Given the description of an element on the screen output the (x, y) to click on. 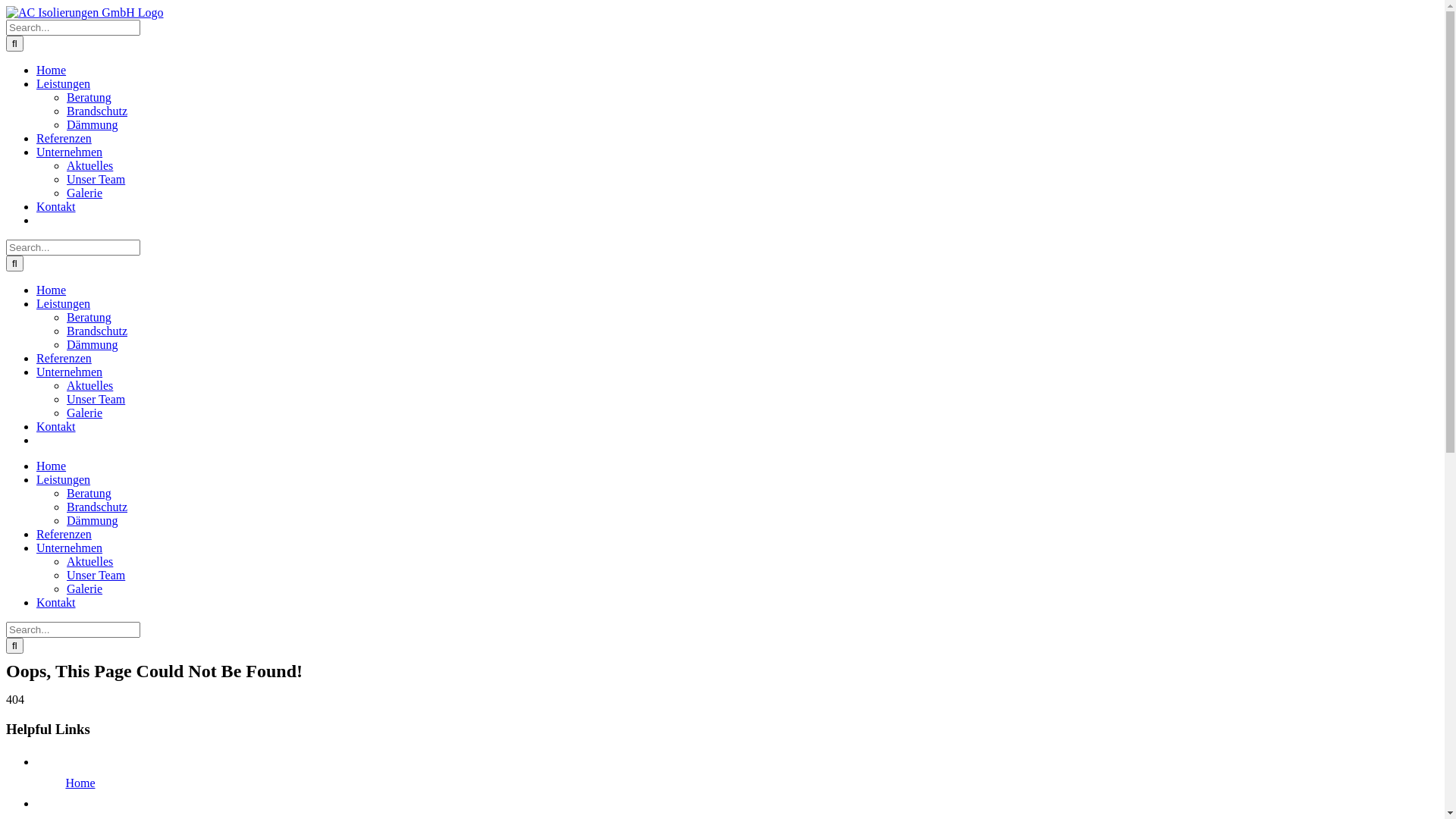
Leistungen Element type: text (63, 303)
Home Element type: text (50, 289)
Unser Team Element type: text (95, 574)
Aktuelles Element type: text (89, 165)
Skip to content Element type: text (5, 5)
Aktuelles Element type: text (89, 385)
Home Element type: text (79, 782)
Beratung Element type: text (88, 492)
Leistungen Element type: text (63, 479)
Beratung Element type: text (88, 316)
Referenzen Element type: text (63, 357)
Referenzen Element type: text (63, 137)
Home Element type: text (50, 69)
Brandschutz Element type: text (96, 506)
Unternehmen Element type: text (69, 547)
Kontakt Element type: text (55, 426)
Unternehmen Element type: text (69, 371)
Unser Team Element type: text (95, 178)
Home Element type: text (50, 465)
Unternehmen Element type: text (69, 151)
Brandschutz Element type: text (96, 110)
Kontakt Element type: text (55, 602)
Aktuelles Element type: text (89, 561)
Galerie Element type: text (84, 588)
Brandschutz Element type: text (96, 330)
Galerie Element type: text (84, 412)
Unser Team Element type: text (95, 398)
Leistungen Element type: text (63, 83)
Galerie Element type: text (84, 192)
Kontakt Element type: text (55, 206)
Beratung Element type: text (88, 97)
Referenzen Element type: text (63, 533)
